Given the description of an element on the screen output the (x, y) to click on. 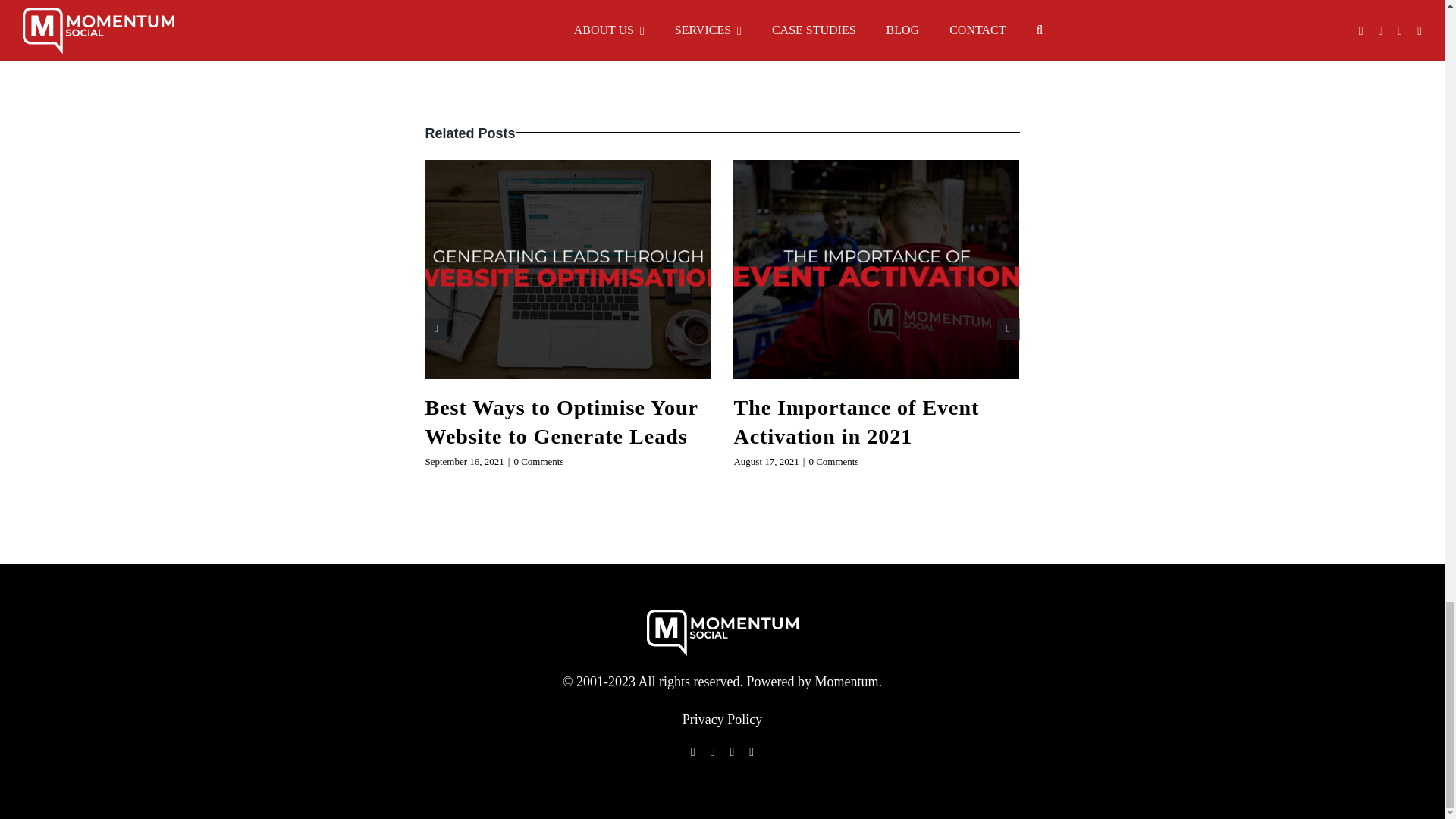
Best Ways to Optimise Your Website to Generate Leads (561, 421)
The Importance of Event Activation in 2021 (855, 421)
